Given the description of an element on the screen output the (x, y) to click on. 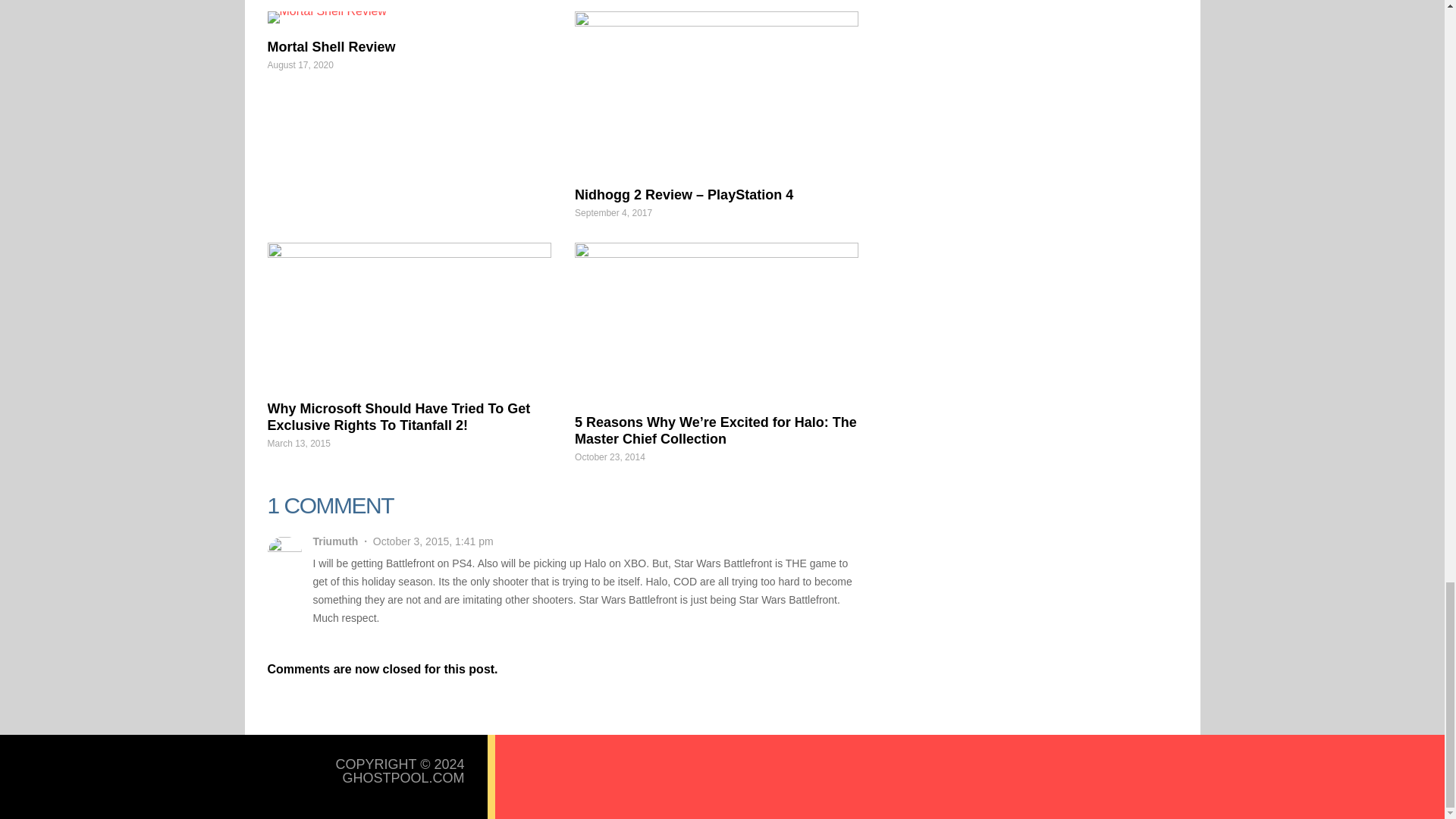
Mortal Shell Review (408, 17)
Mortal Shell Review (330, 46)
